Given the description of an element on the screen output the (x, y) to click on. 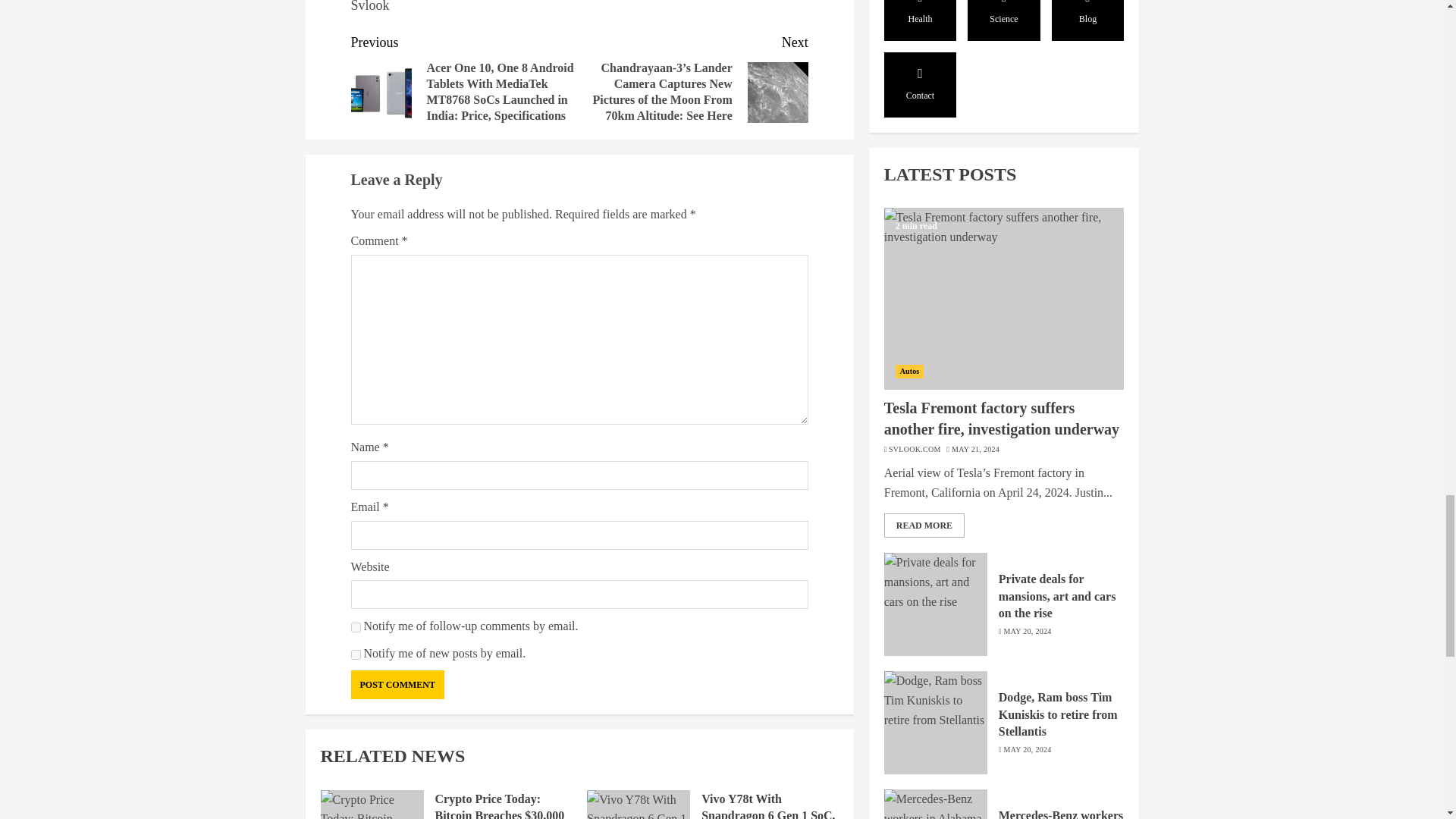
Private deals for mansions, art and cars on the rise (935, 304)
Post Comment (397, 684)
Dodge, Ram boss Tim Kuniskis to retire from Stellantis (935, 423)
subscribe (354, 655)
subscribe (354, 627)
Mercedes-Benz workers in Alabama vote against union (935, 540)
